Given the description of an element on the screen output the (x, y) to click on. 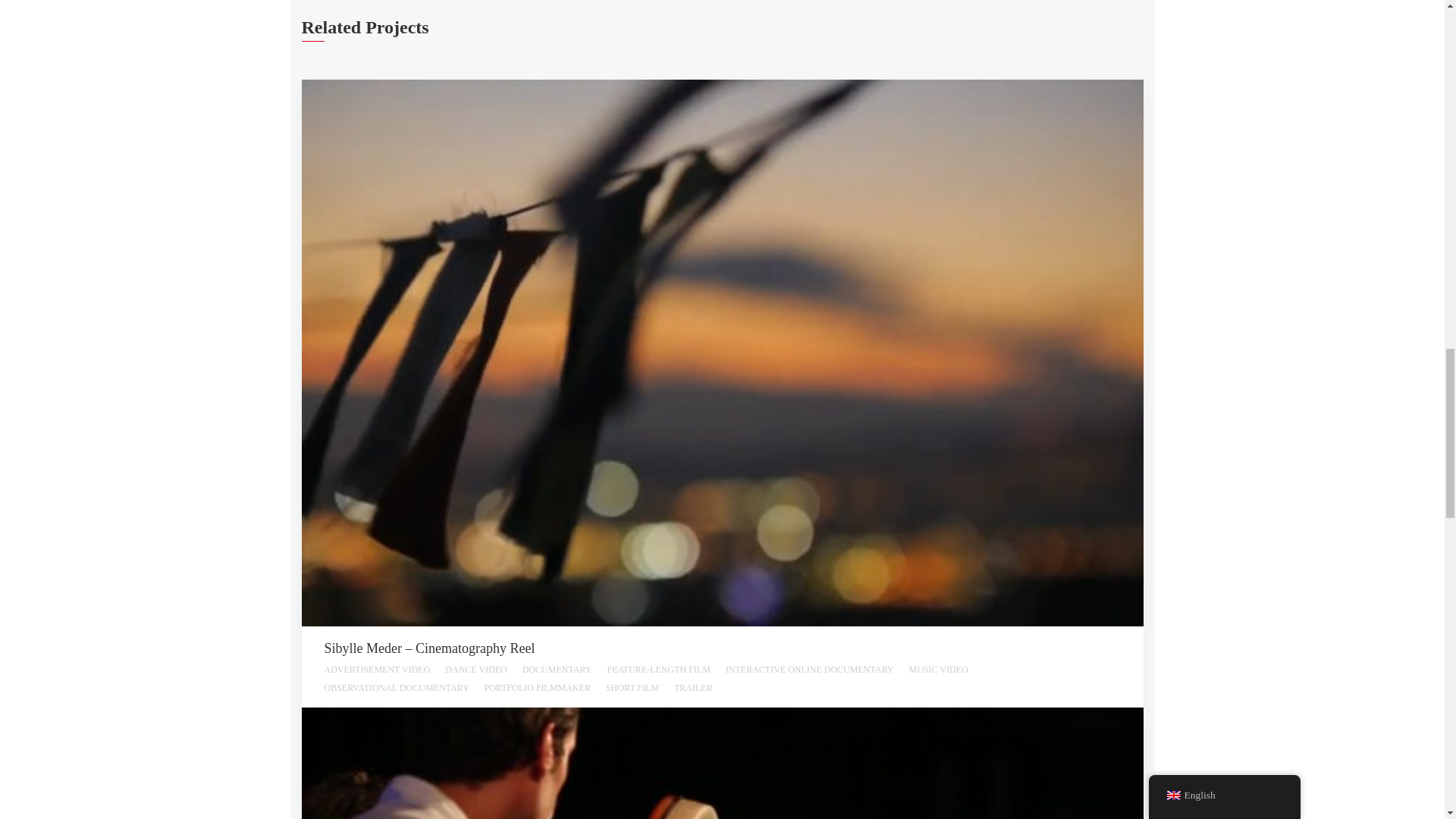
PORTFOLIO FILMMAKER (537, 687)
INTERACTIVE ONLINE DOCUMENTARY (809, 669)
ADVERTISEMENT VIDEO (377, 669)
FEATURE-LENGTH FILM (658, 669)
DANCE VIDEO (475, 669)
TRAILER (693, 687)
SHORT FILM (632, 687)
DOCUMENTARY (557, 669)
OBSERVATIONAL DOCUMENTARY (396, 687)
MUSIC VIDEO (938, 669)
